Given the description of an element on the screen output the (x, y) to click on. 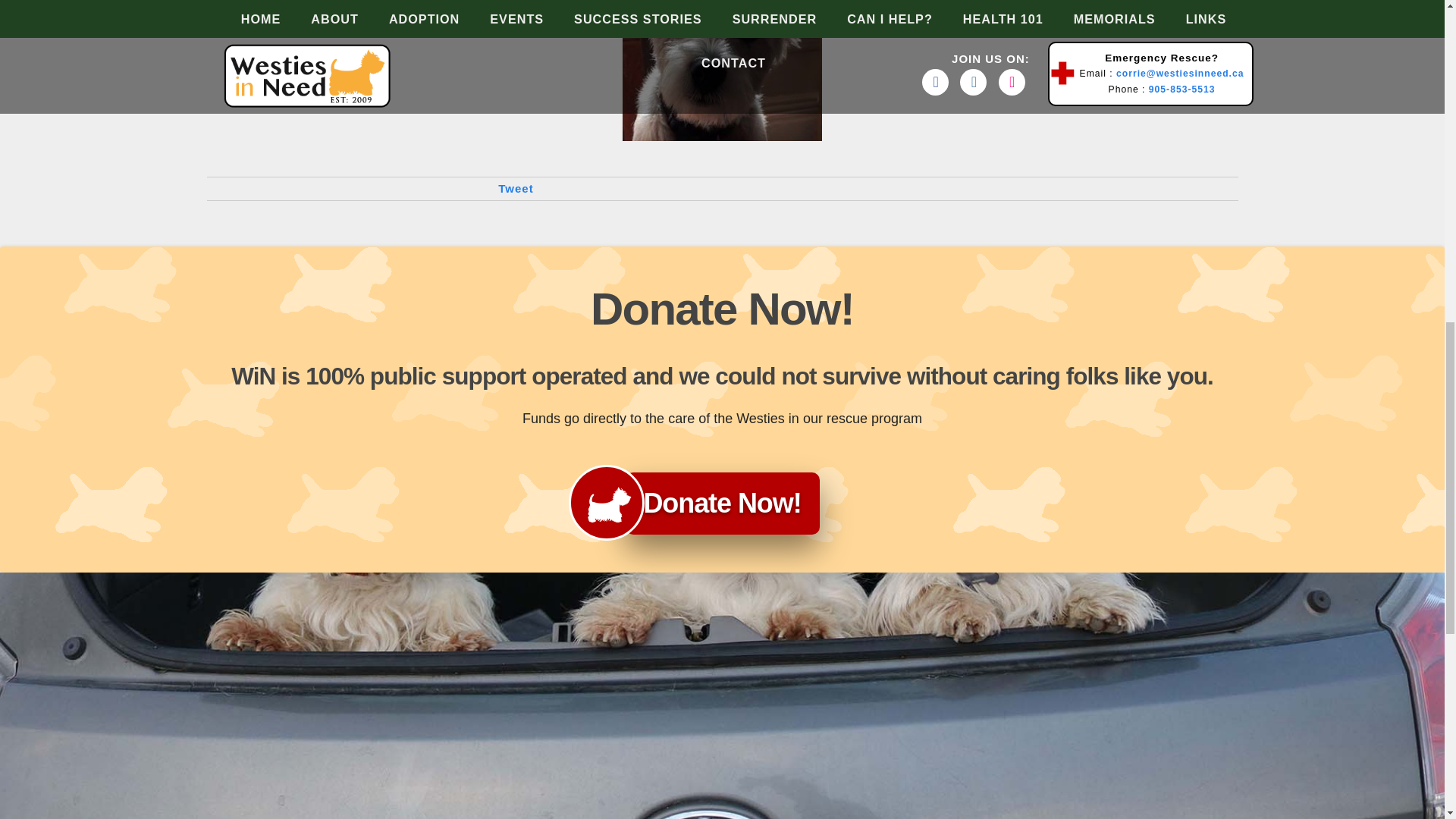
Tweet (514, 187)
